Given the description of an element on the screen output the (x, y) to click on. 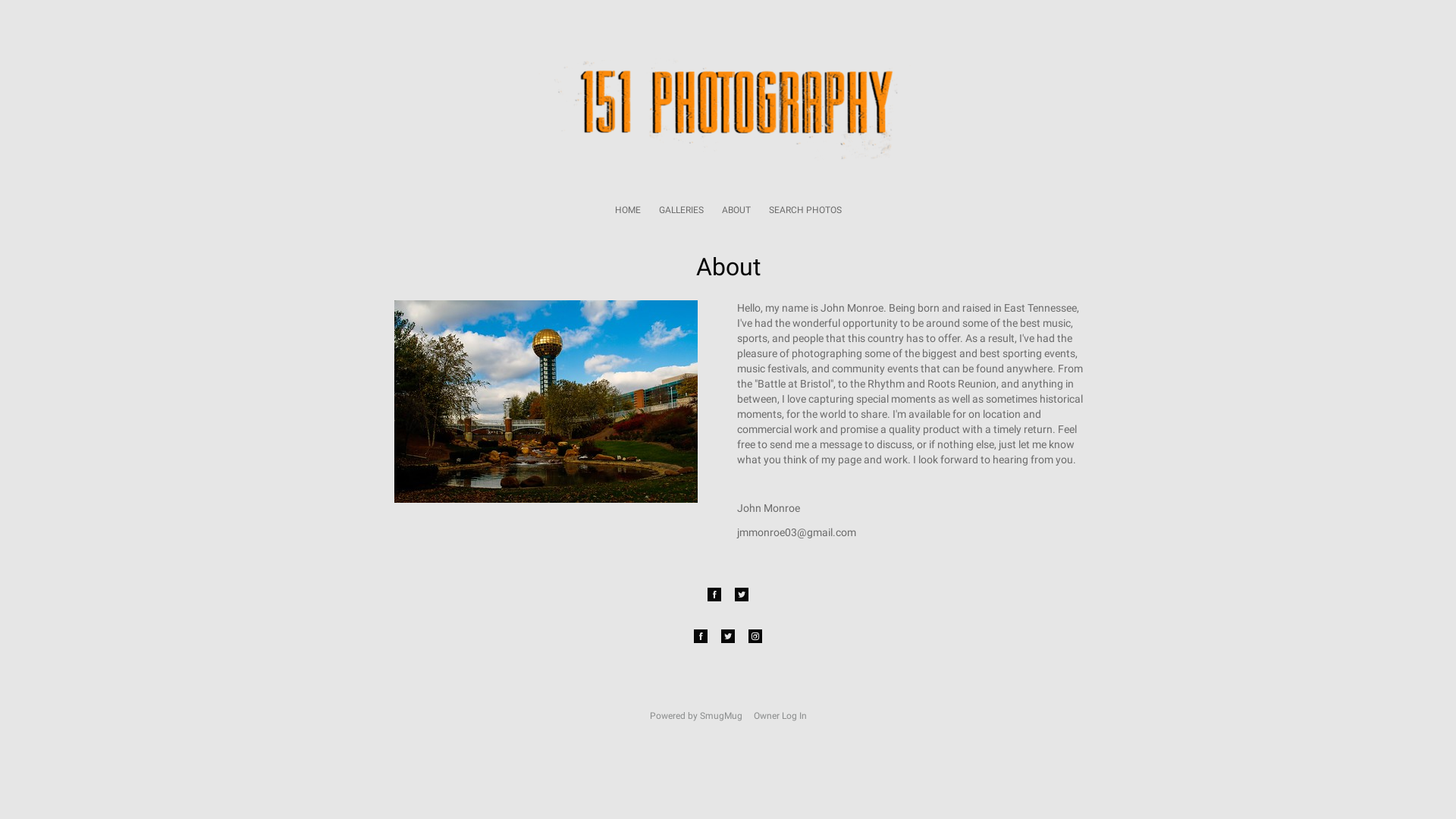
HOME Element type: text (627, 209)
SEARCH PHOTOS Element type: text (804, 209)
Owner Log In Element type: text (779, 715)
GALLERIES Element type: text (680, 209)
Powered by SmugMug Element type: text (696, 715)
ABOUT Element type: text (735, 209)
